Given the description of an element on the screen output the (x, y) to click on. 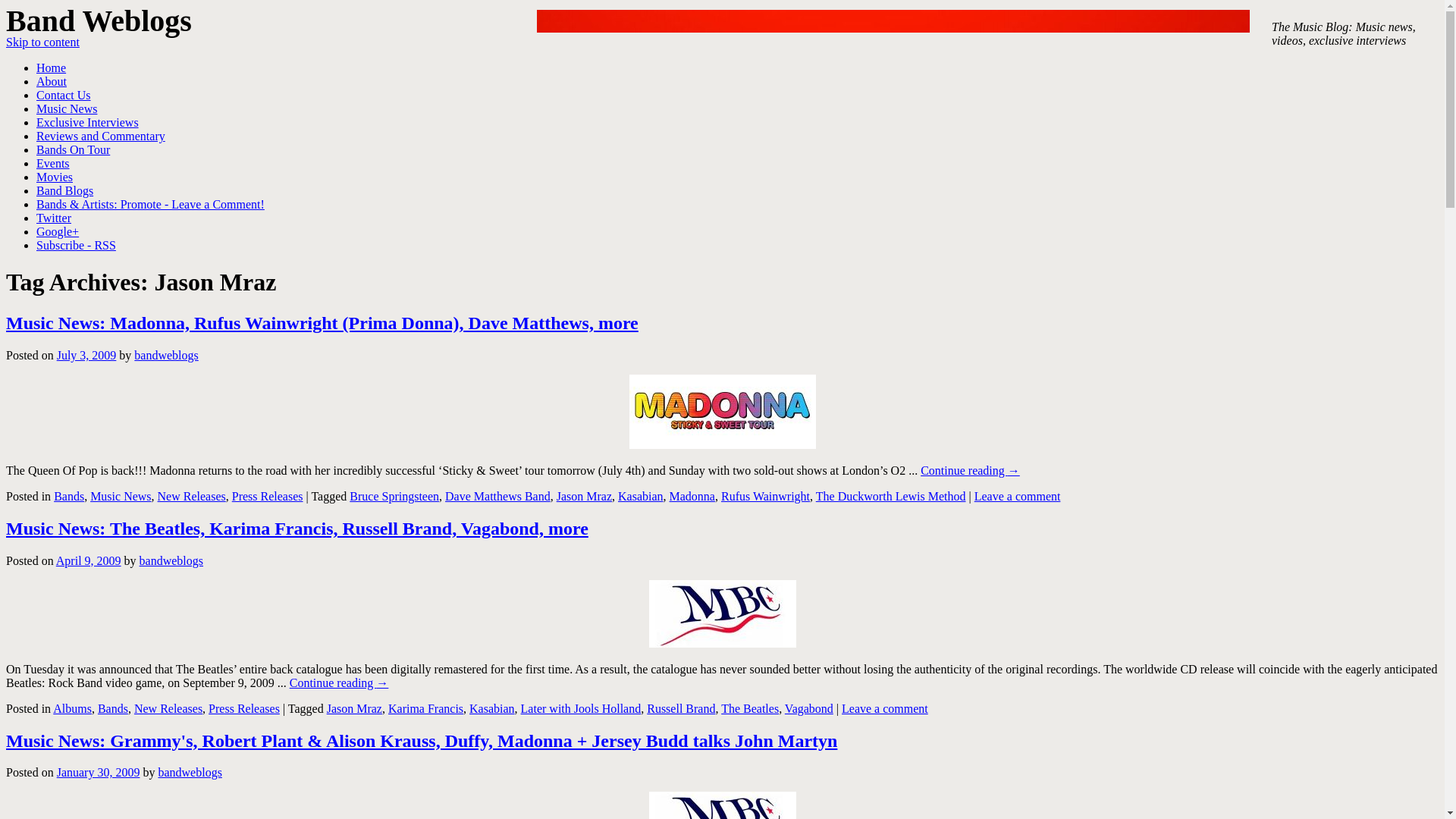
Music News (120, 495)
Skip to content (42, 42)
View all posts in Bands (68, 495)
Events (52, 163)
Exclusive Interviews (87, 122)
Press Releases (243, 707)
Madonna (721, 411)
4:06 pm (88, 560)
Band Blogs (64, 190)
Leave a comment (1017, 495)
Subscribe - RSS (76, 245)
bandweblogs (165, 354)
Bruce Springsteen (394, 495)
About (51, 81)
